Given the description of an element on the screen output the (x, y) to click on. 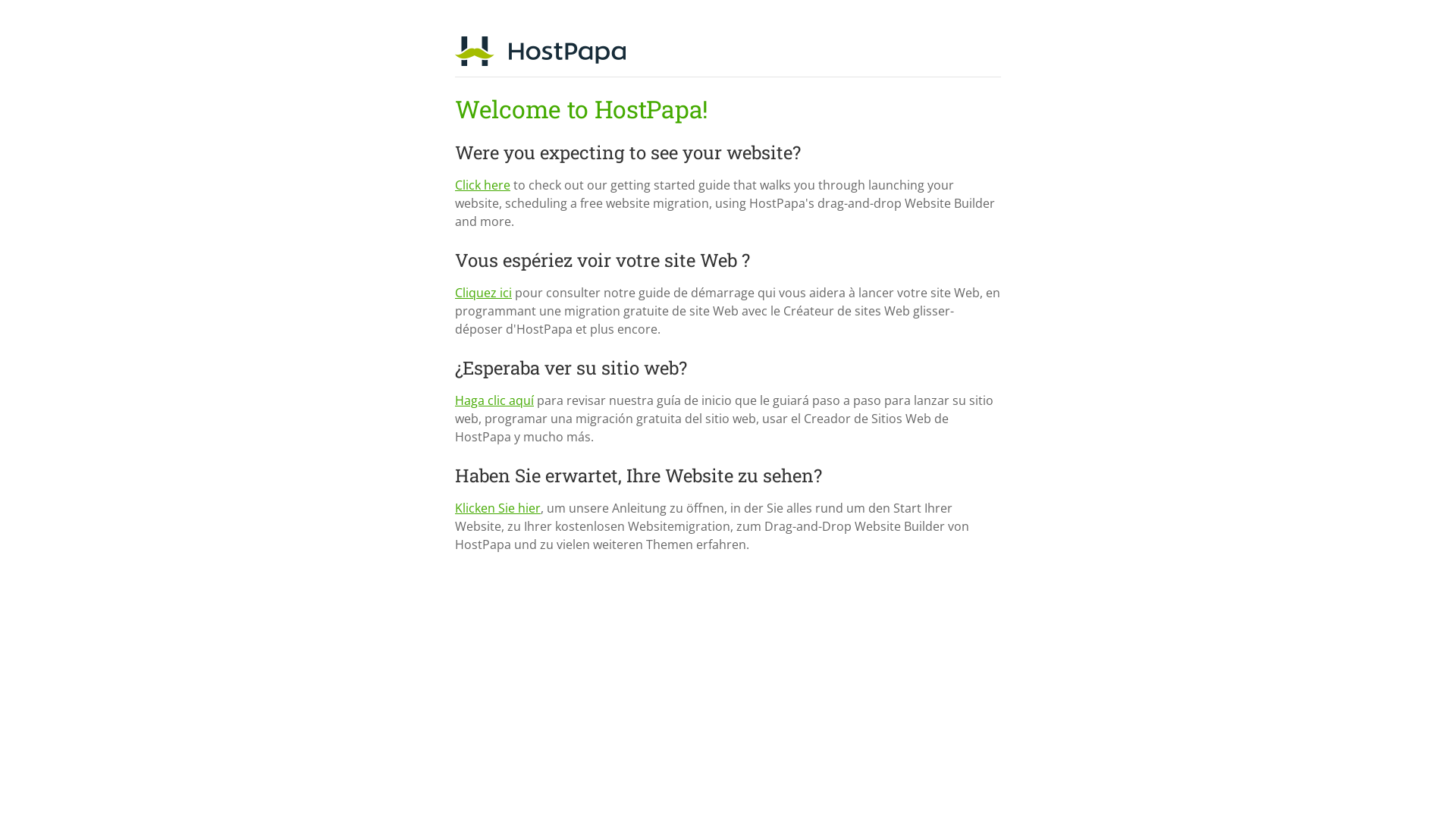
Klicken Sie hier Element type: text (497, 507)
Cliquez ici Element type: text (483, 292)
Click here Element type: text (482, 184)
